Given the description of an element on the screen output the (x, y) to click on. 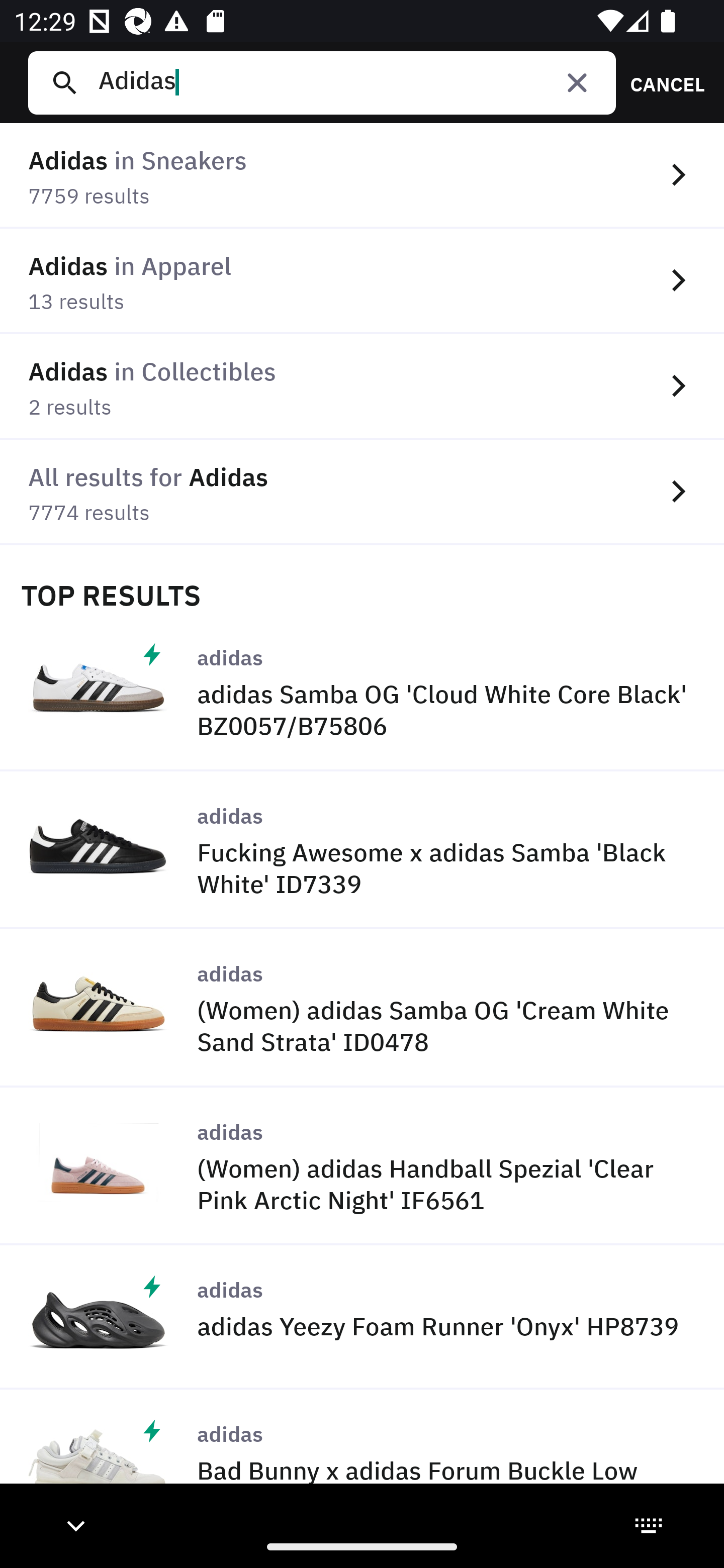
CANCEL (660, 82)
Adidas (349, 82)
 (577, 82)
Adidas  in Sneakers 7759 results  (362, 175)
Adidas  in Apparel 13 results  (362, 280)
Adidas  in Collectibles 2 results  (362, 386)
All results for  Adidas 7774 results  (362, 492)
 adidas adidas Yeezy Foam Runner 'Onyx' HP8739 (362, 1316)
